Given the description of an element on the screen output the (x, y) to click on. 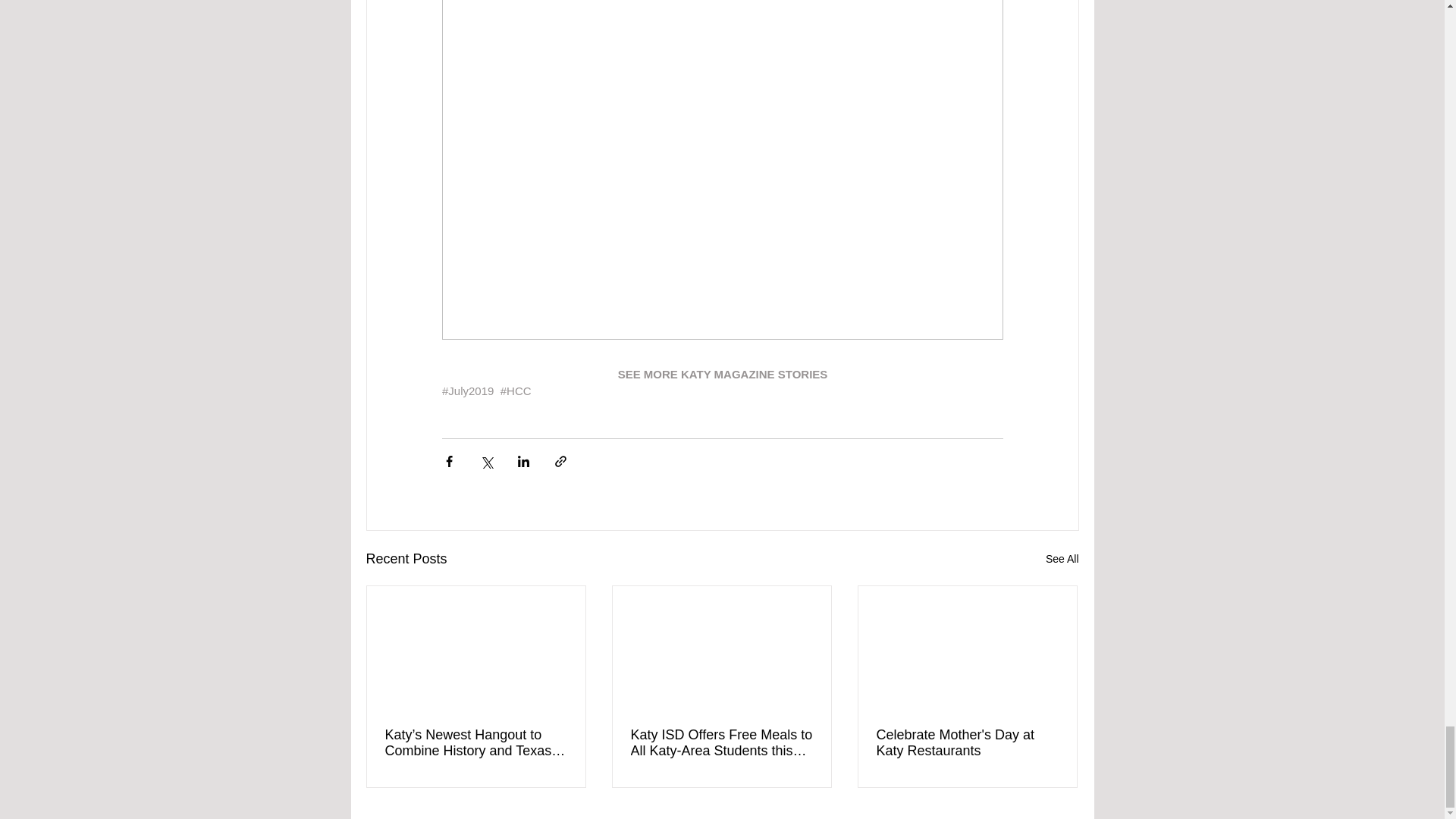
See All (1061, 558)
SEE MORE KATY MAGAZINE STORIES (722, 373)
